Given the description of an element on the screen output the (x, y) to click on. 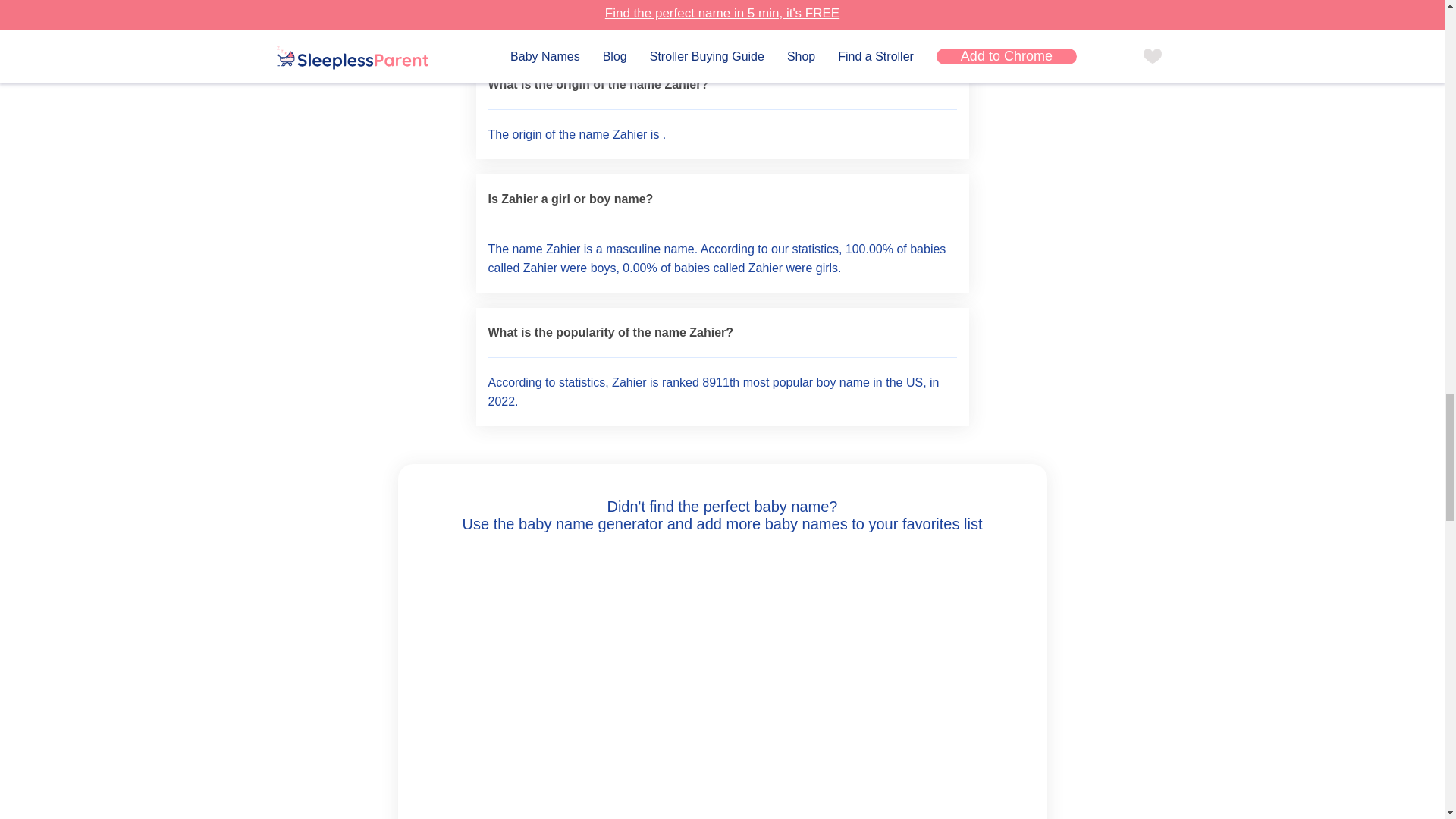
YouTube video player (721, 675)
